Given the description of an element on the screen output the (x, y) to click on. 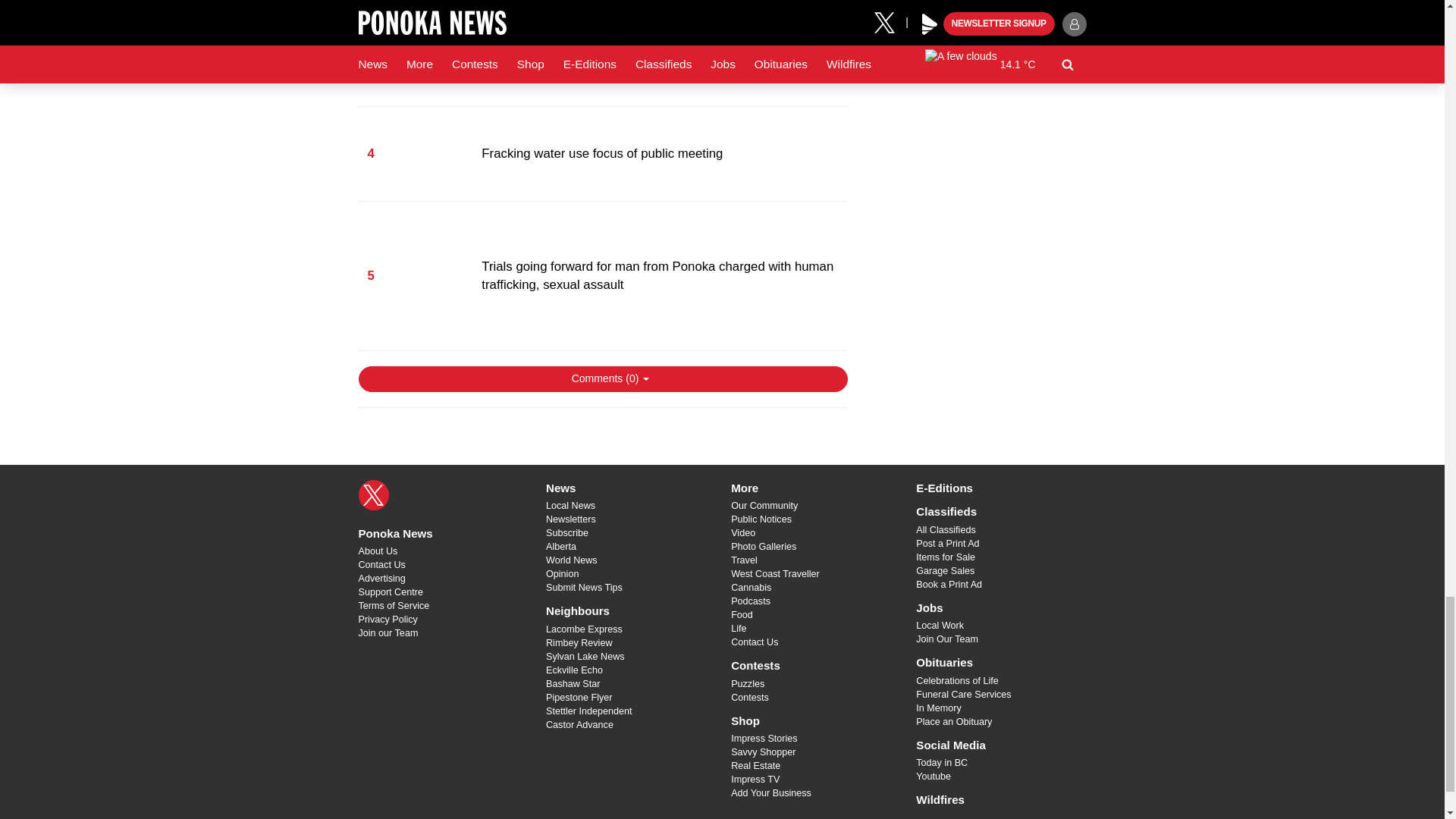
X (373, 494)
Show Comments (602, 379)
